Given the description of an element on the screen output the (x, y) to click on. 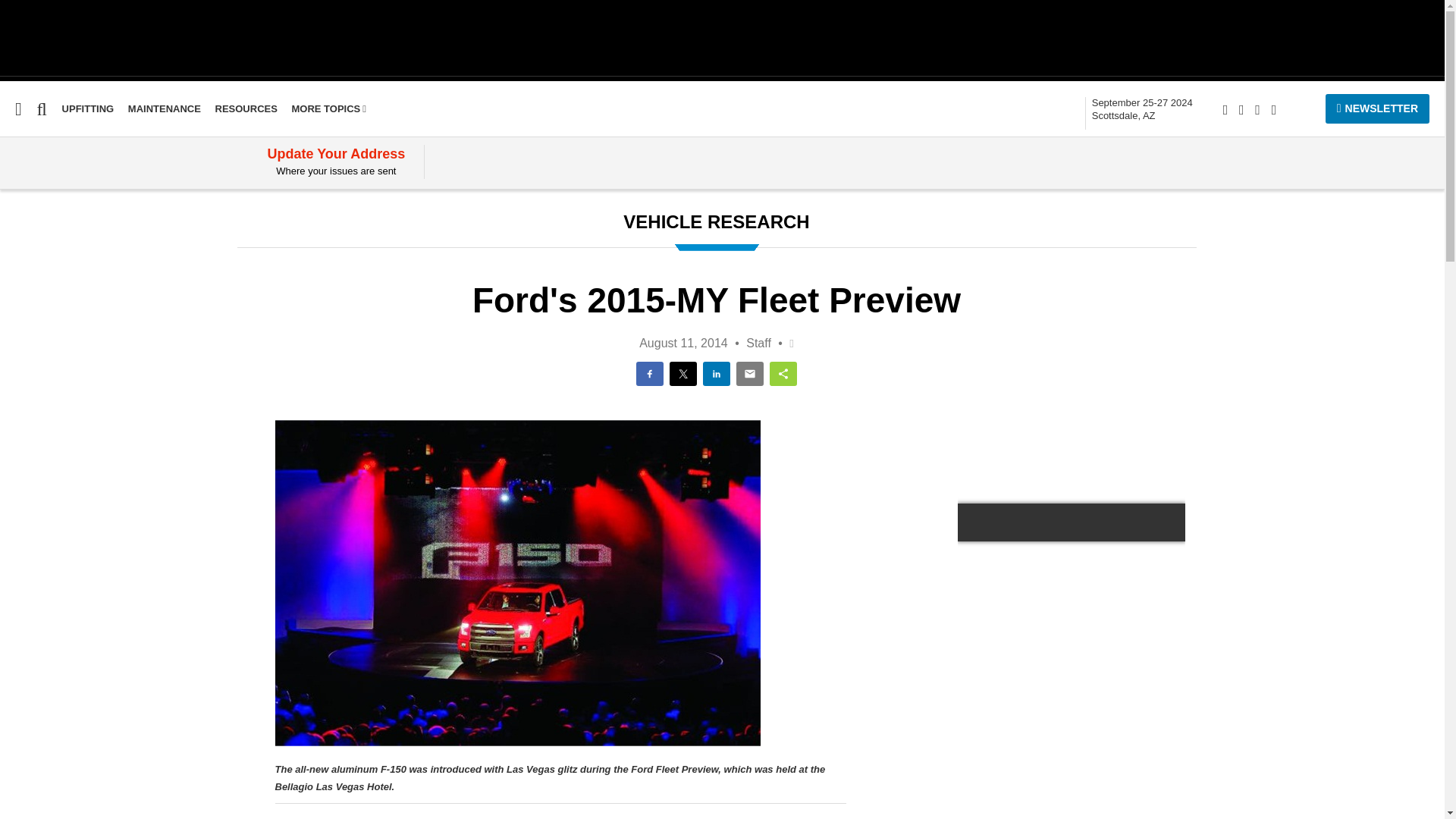
Upfitting (24, 351)
Home (16, 206)
Safety (17, 293)
Telematics (31, 323)
Fuel (11, 236)
RESOURCES (246, 108)
Fuel (11, 236)
Resources (246, 108)
September 25-27 2024 (1142, 109)
Maintenance (37, 264)
